Given the description of an element on the screen output the (x, y) to click on. 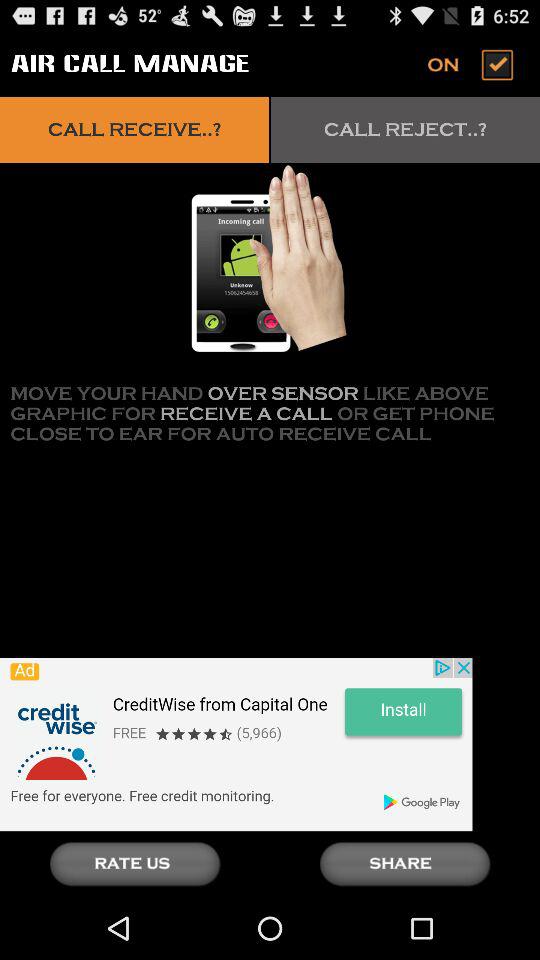
rate the app (135, 863)
